Given the description of an element on the screen output the (x, y) to click on. 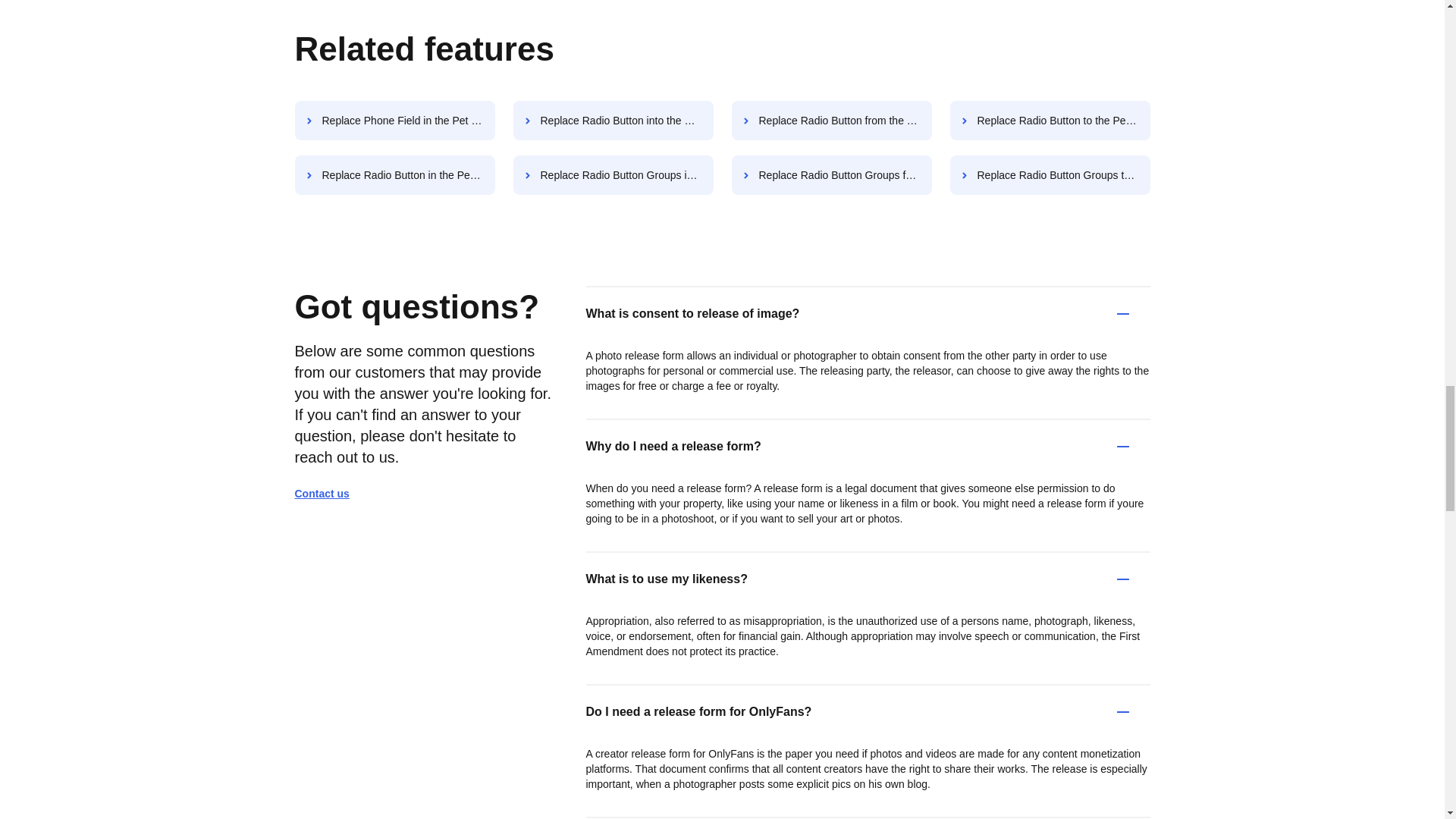
Replace Radio Button in the Pet Care Agreement (394, 174)
Replace Radio Button into the Pet Care Agreement (612, 120)
Replace Radio Button Groups from the Pet Care Agreement (830, 174)
Replace Radio Button from the Pet Care Agreement (830, 120)
Replace Radio Button Groups to the Pet Care Agreement (1049, 174)
Contact us (328, 493)
Replace Radio Button Groups into the Pet Care Agreement (612, 174)
Replace Phone Field in the Pet Care Agreement (394, 120)
Replace Radio Button to the Pet Care Agreement (1049, 120)
